Given the description of an element on the screen output the (x, y) to click on. 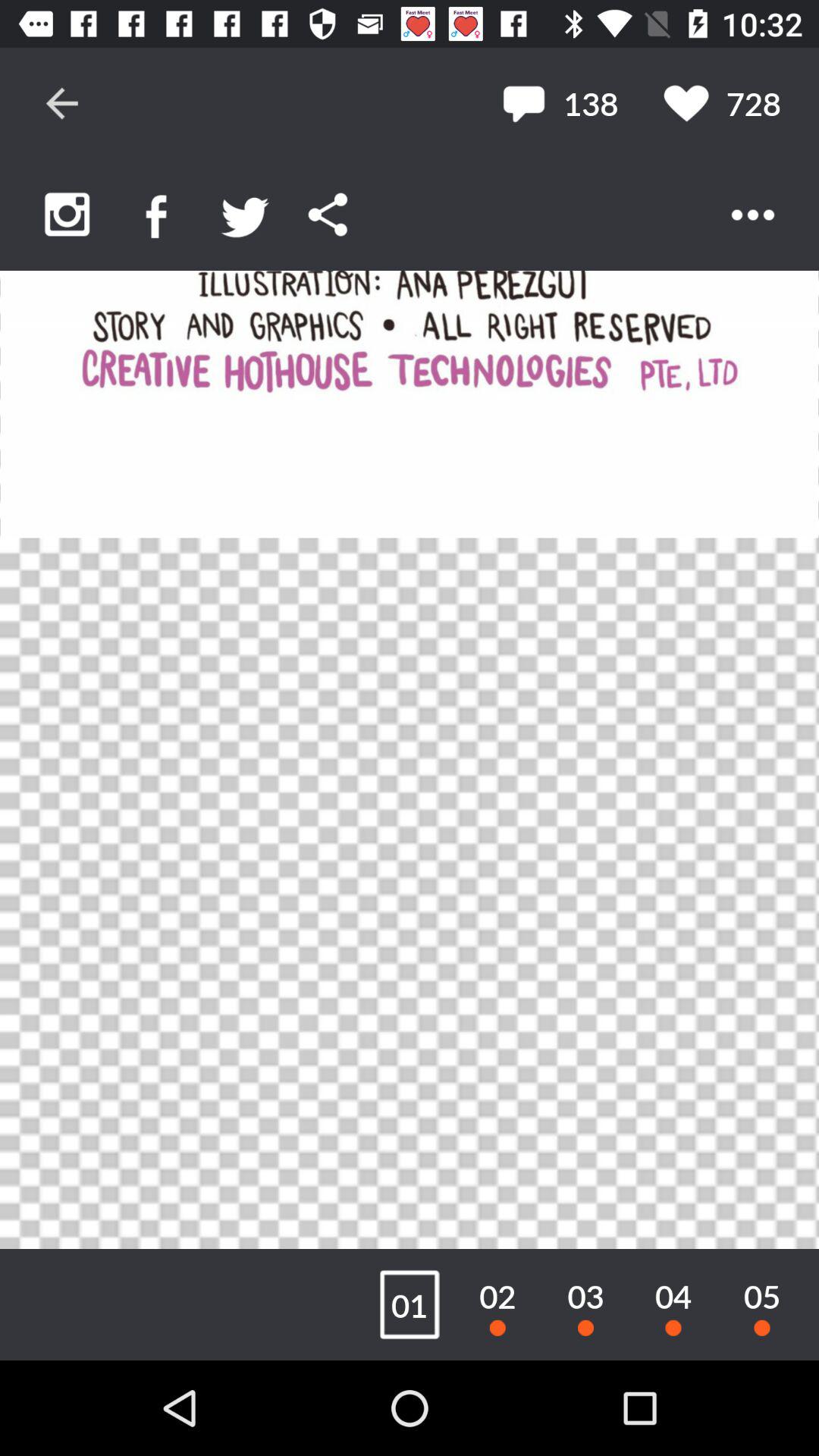
launch item to the left of the 728  icon (559, 103)
